Given the description of an element on the screen output the (x, y) to click on. 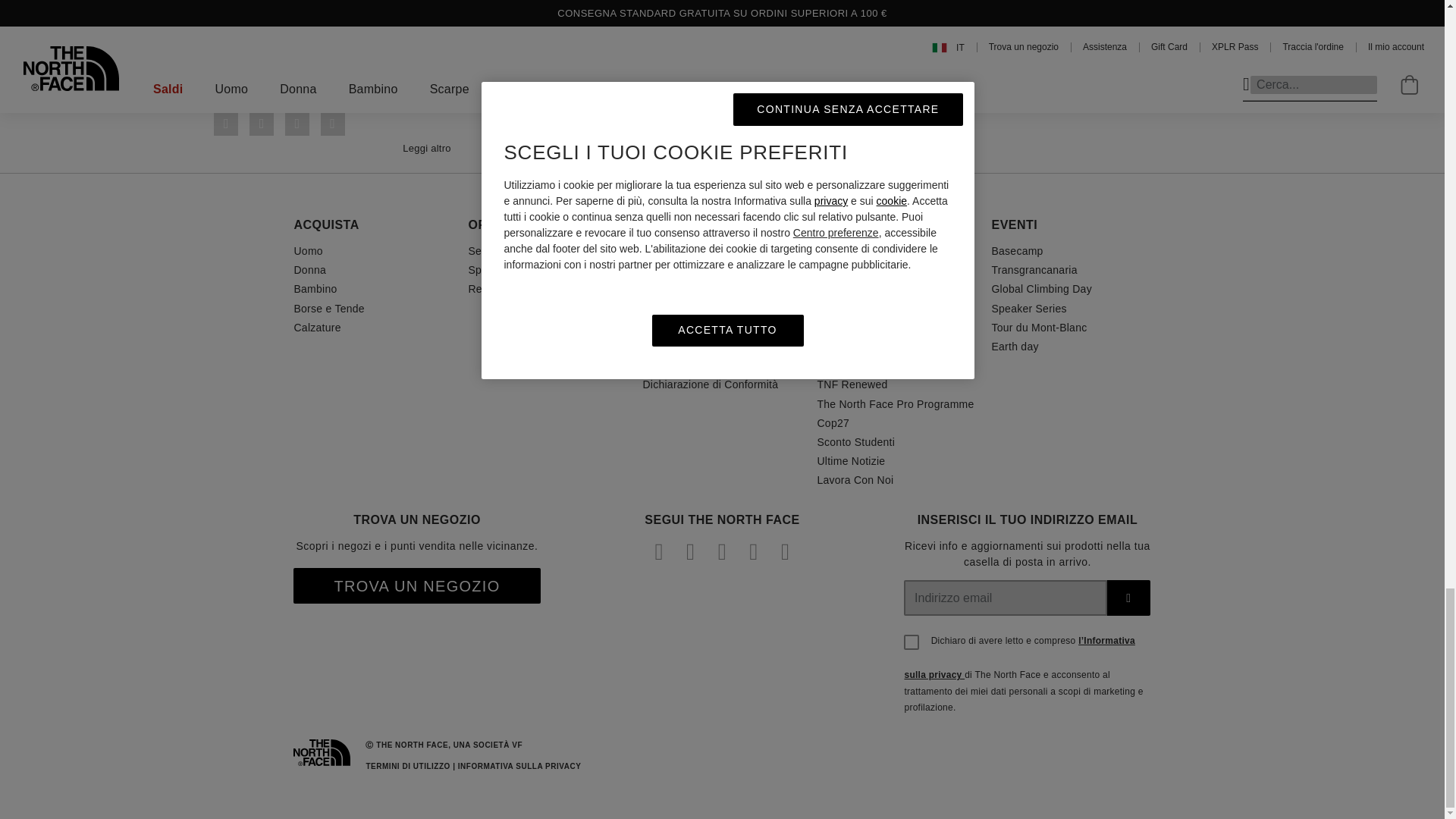
on (911, 642)
